Given the description of an element on the screen output the (x, y) to click on. 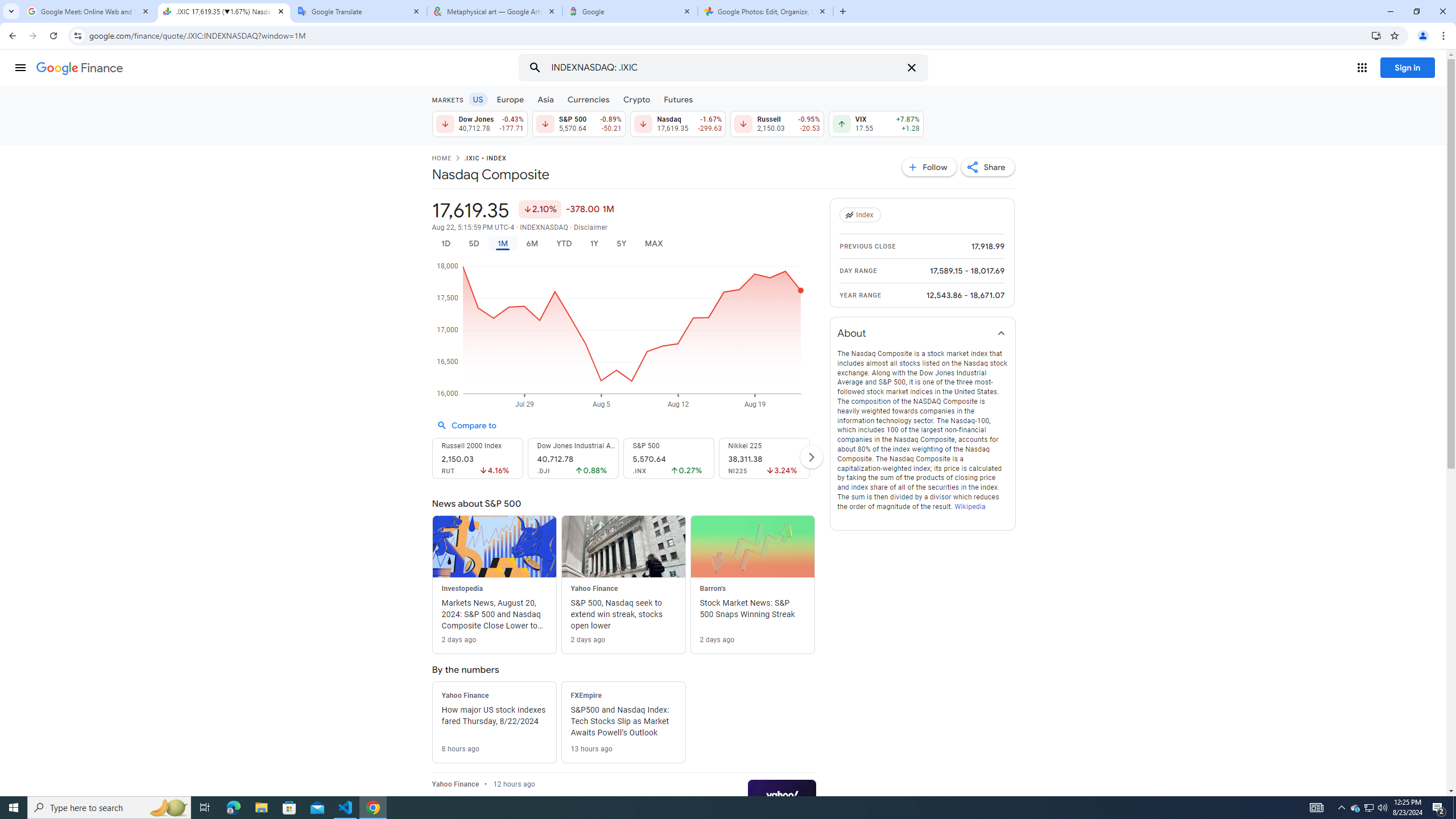
Google Translate (359, 11)
US (477, 99)
HOME (440, 158)
VIX 17.55 Up by 7.87% +1.28 (875, 123)
About (923, 332)
YTD (563, 243)
5D (473, 243)
Dow Jones 40,712.78 Down by 0.43% -177.71 (478, 123)
